Given the description of an element on the screen output the (x, y) to click on. 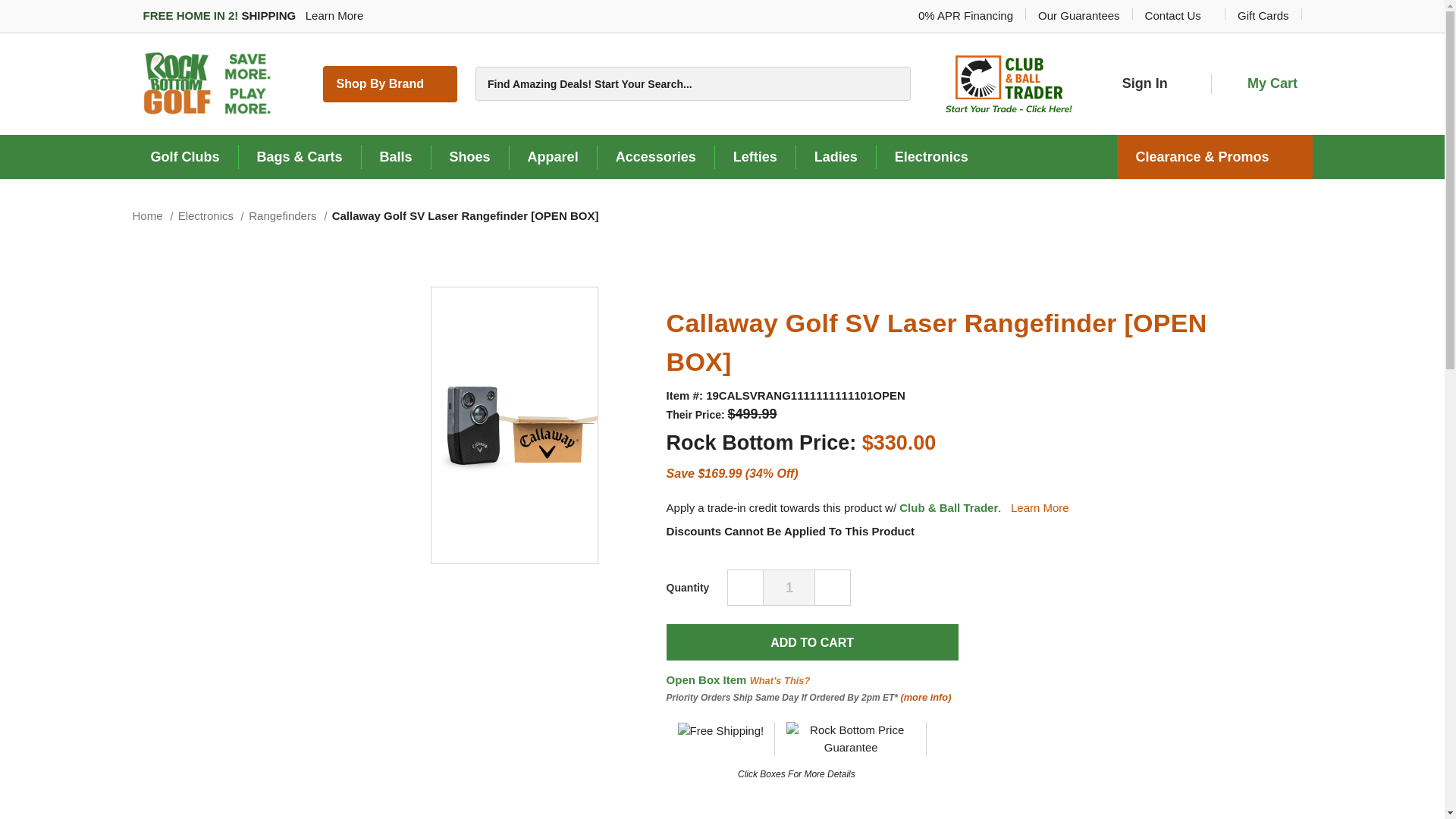
Rock Bottom Golf (210, 83)
1 (787, 587)
Add to Cart (812, 642)
Our Guarantees (1078, 15)
Shop By Brand (390, 83)
FREE HOME IN 2! SHIPPING   Learn More (258, 16)
Gift Cards (1262, 15)
Contact Us (1178, 15)
